Given the description of an element on the screen output the (x, y) to click on. 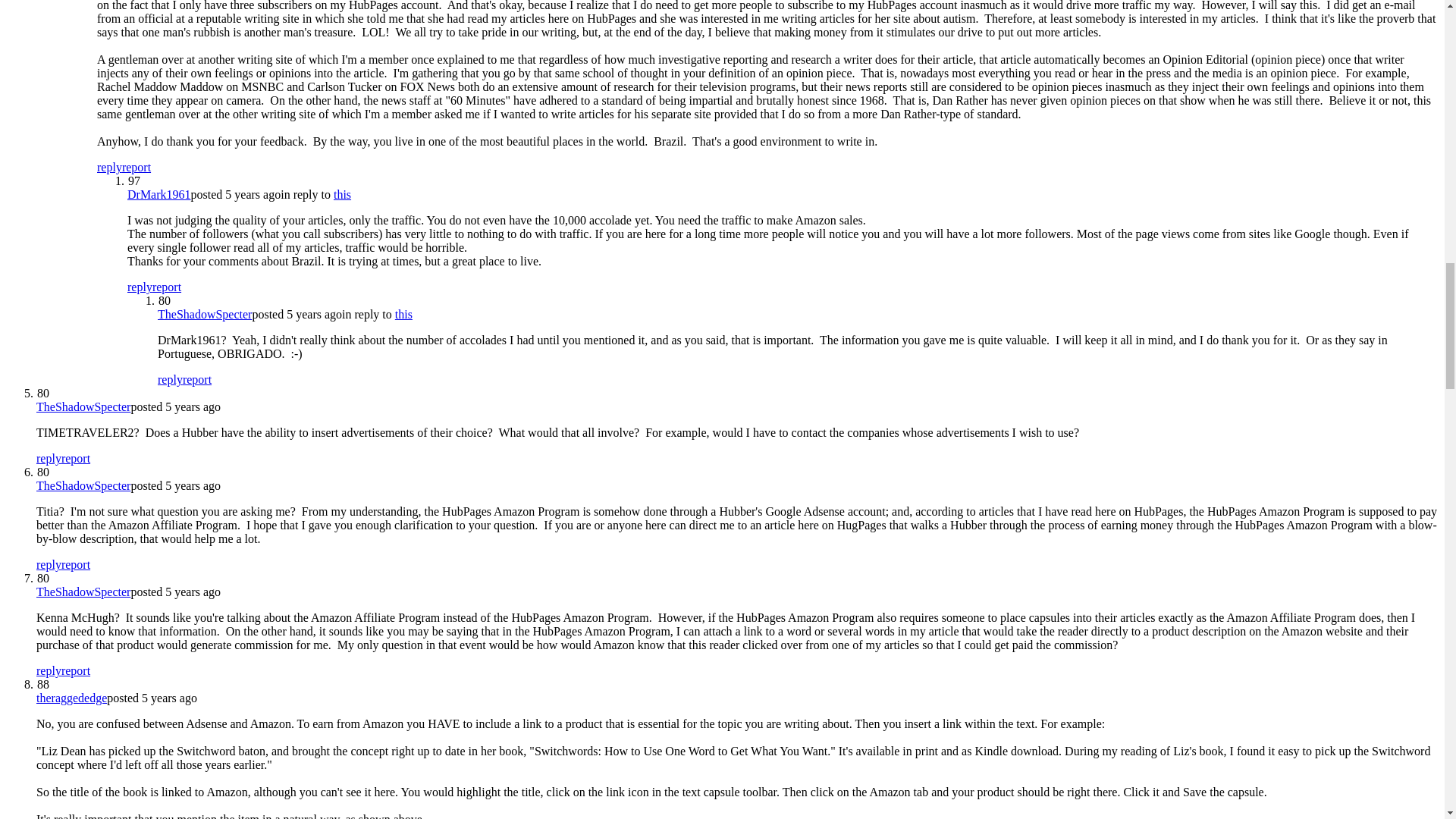
Hubber Score (133, 180)
